Given the description of an element on the screen output the (x, y) to click on. 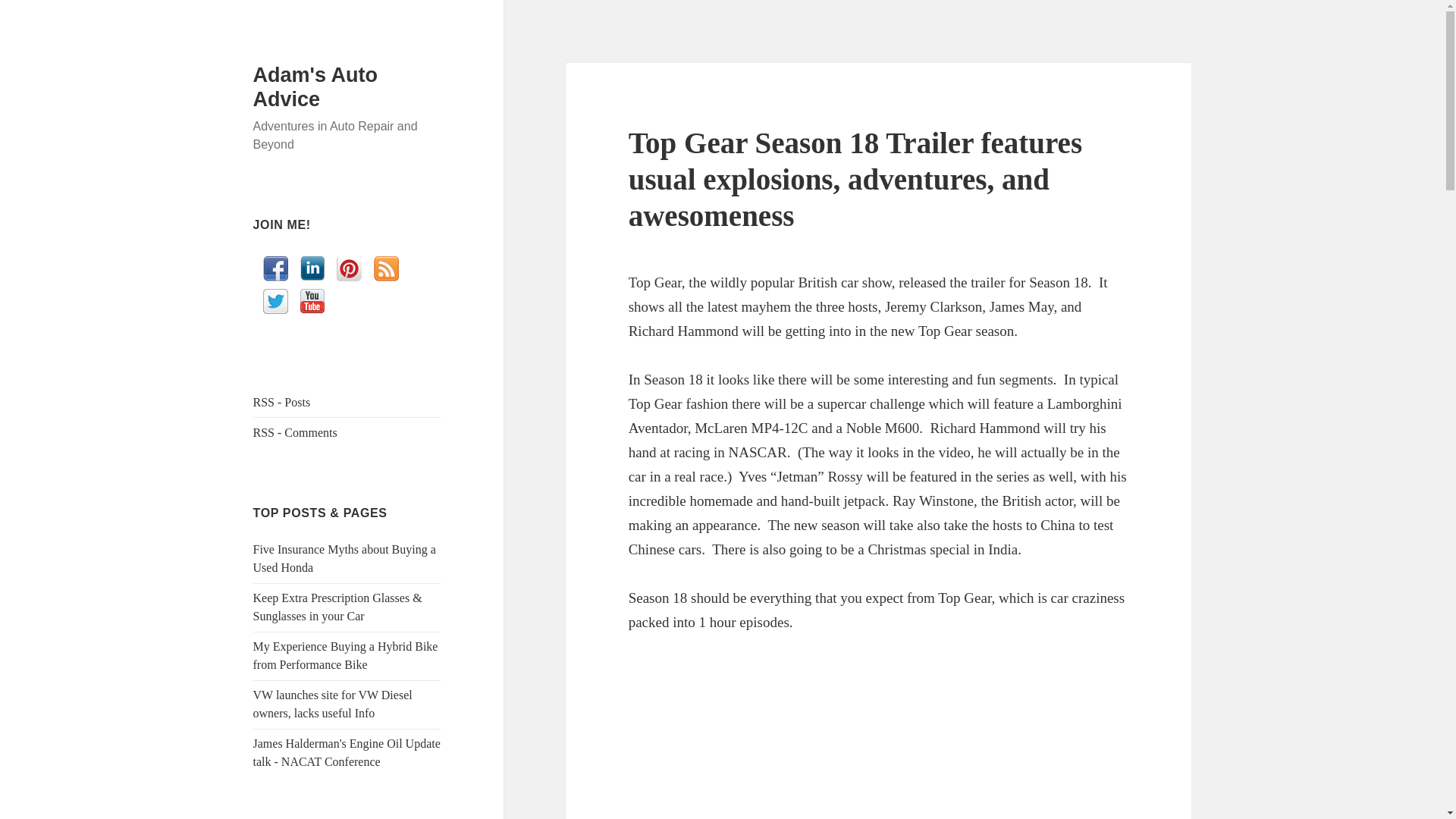
My Experience Buying a Hybrid Bike from Performance Bike (345, 654)
Five Insurance Myths about Buying a Used Honda (344, 558)
RSS - Posts (282, 401)
VW launches site for VW Diesel owners, lacks useful Info (332, 703)
Link to my Linkedin Page (311, 268)
Link to my Twitter Page (275, 301)
Link to my Pinterest Page (348, 268)
Subscribe to Comments (295, 431)
RSS - Comments (295, 431)
Adam's Auto Advice (315, 86)
Link to my Rss Page (386, 268)
James Halderman's Engine Oil Update talk - NACAT Conference (347, 752)
Link to my Youtube Page (311, 300)
Subscribe to Posts (282, 401)
Link to my Facebook Page (275, 268)
